Given the description of an element on the screen output the (x, y) to click on. 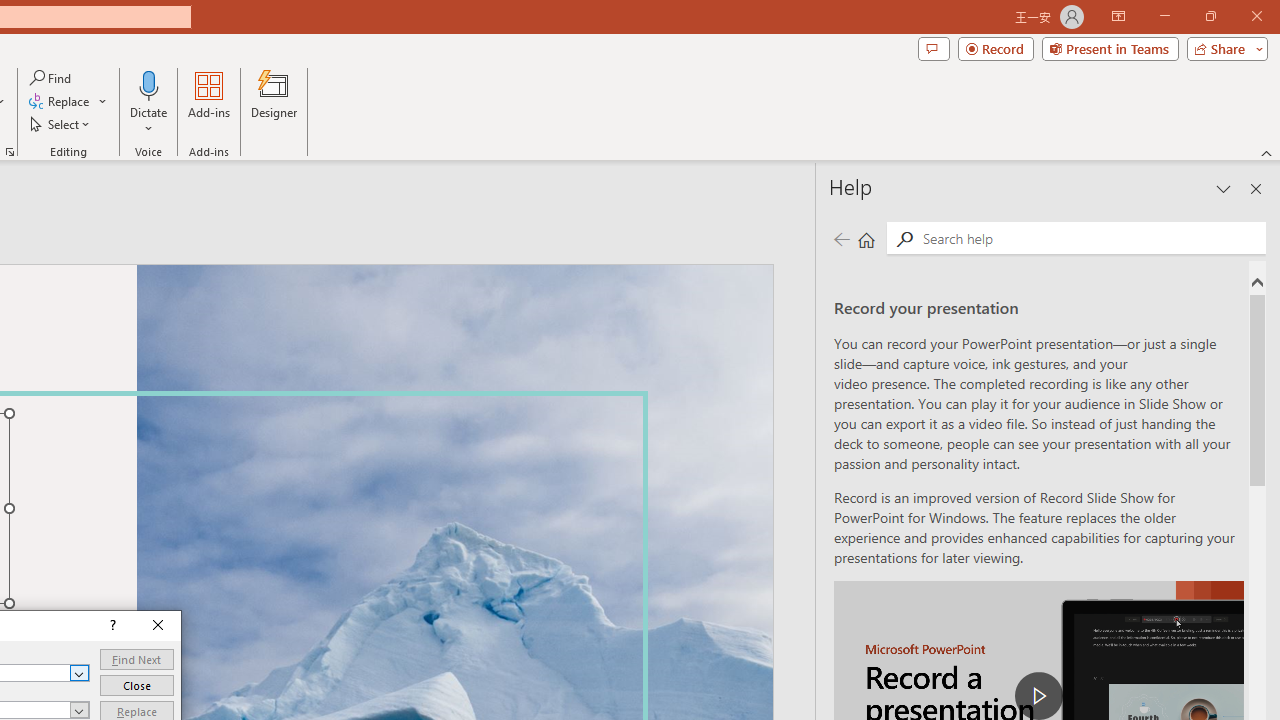
Search (1089, 237)
Search (904, 238)
Format Object... (9, 151)
Designer (274, 102)
Find... (51, 78)
